Given the description of an element on the screen output the (x, y) to click on. 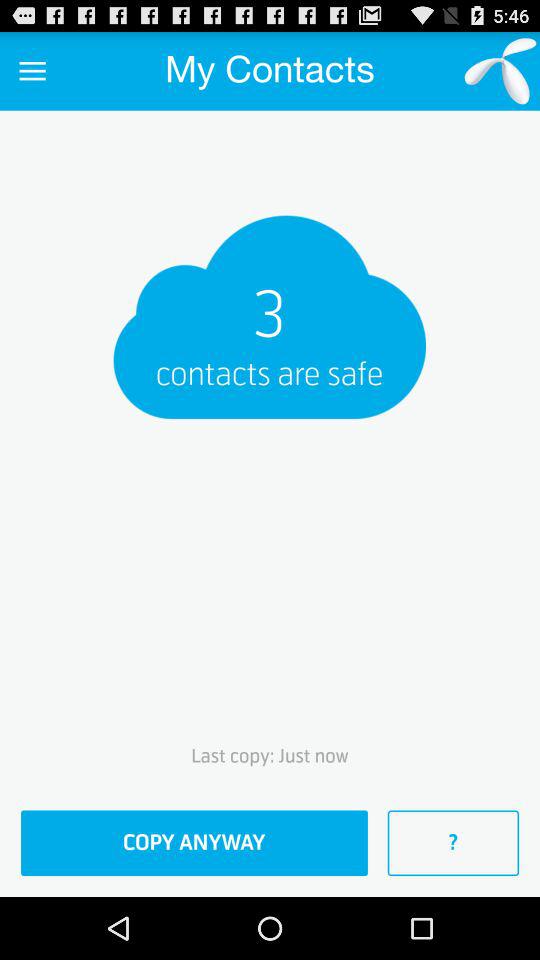
tap ?  at the bottom right corner (453, 843)
